Given the description of an element on the screen output the (x, y) to click on. 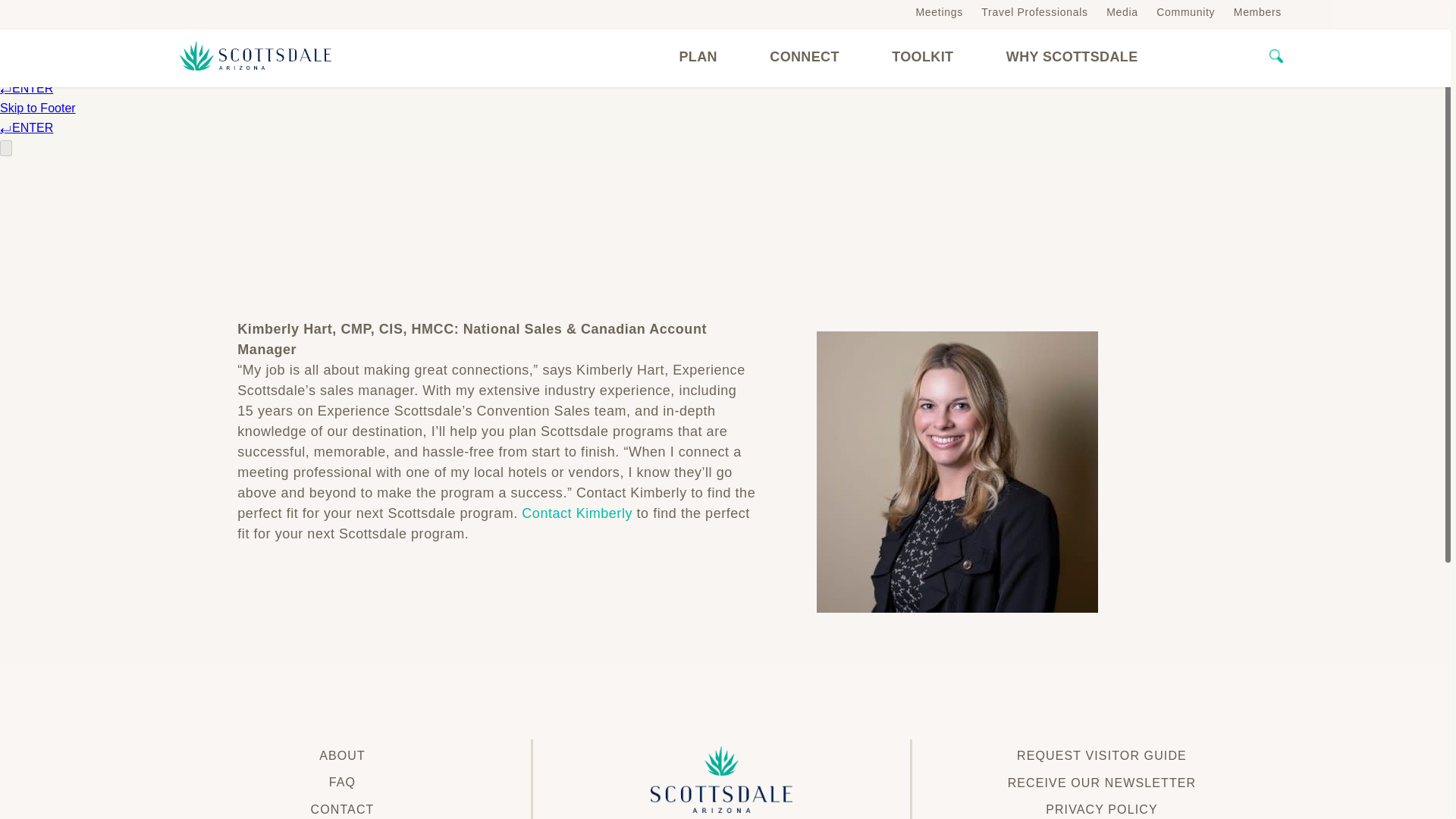
Travel Professionals (1034, 11)
Meetings (938, 11)
Meetings (938, 11)
